Given the description of an element on the screen output the (x, y) to click on. 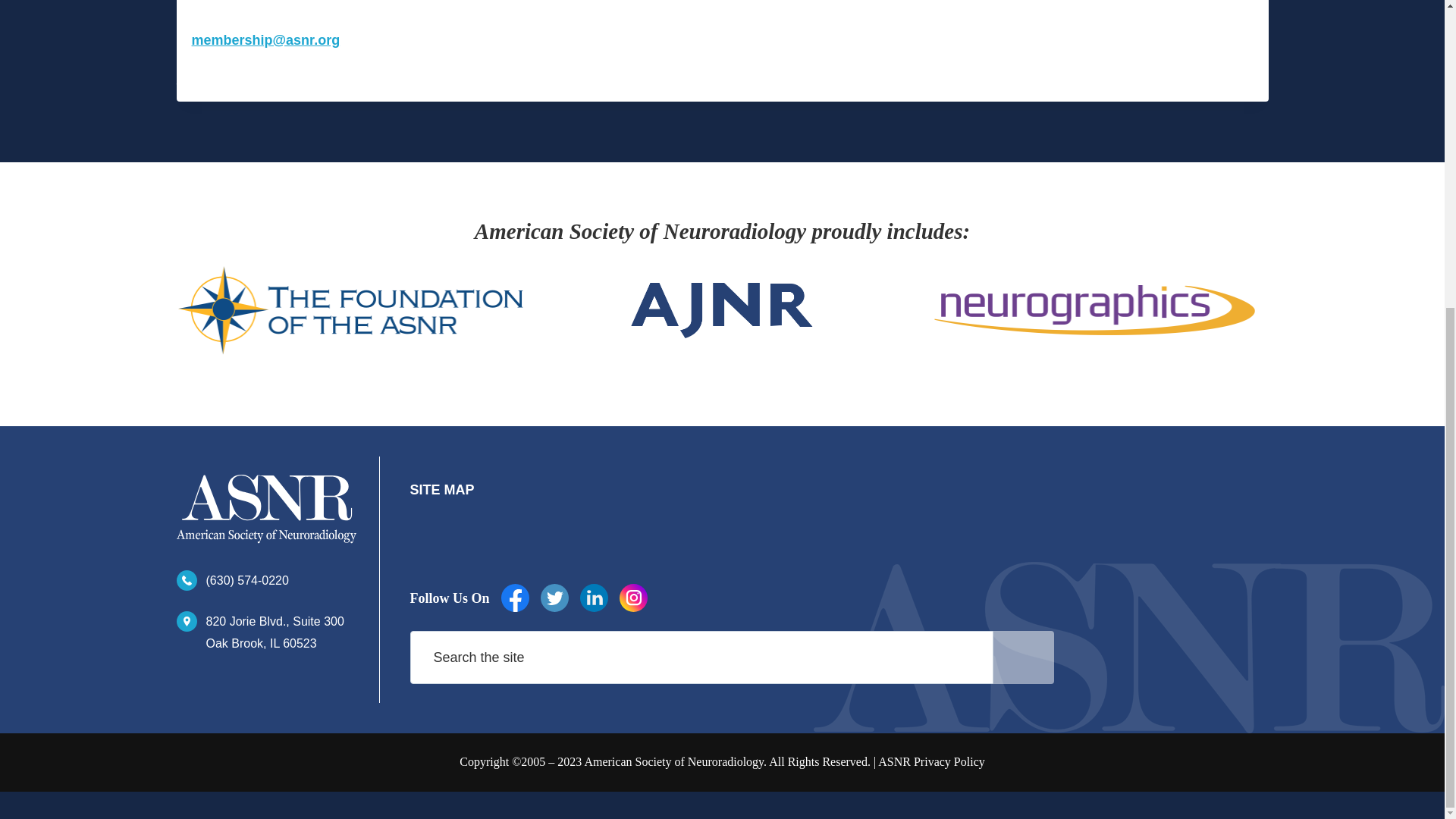
SITE MAP (441, 490)
ASNR Privacy Policy (265, 632)
